Given the description of an element on the screen output the (x, y) to click on. 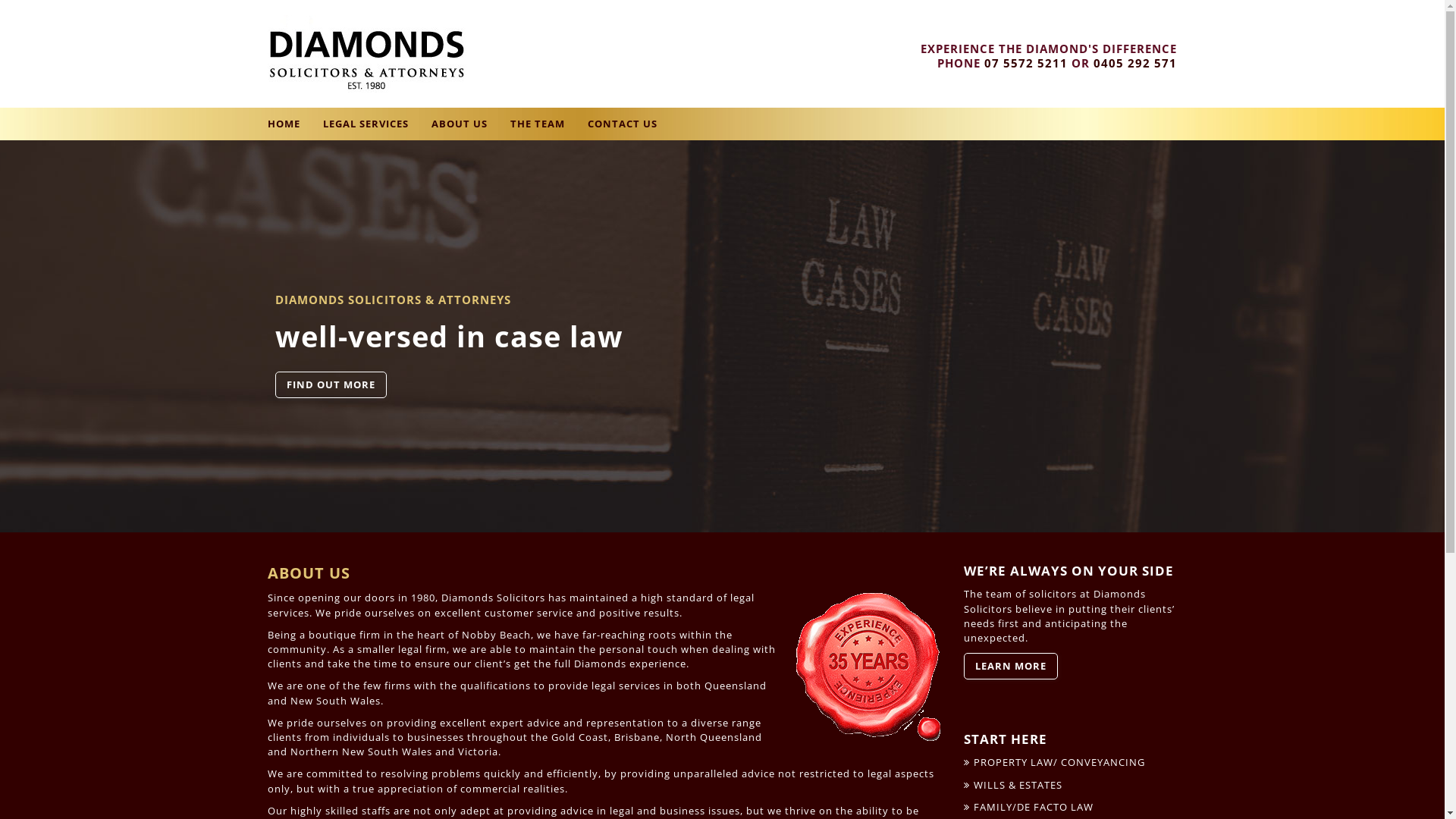
PROPERTY LAW/ CONVEYANCING Element type: text (1054, 761)
07 5572 5211 Element type: text (1025, 63)
THE TEAM Element type: text (536, 123)
LEARN MORE Element type: text (1010, 665)
WILLS & ESTATES Element type: text (1012, 784)
Diamonds Solicitors & Attorneys Element type: hover (412, 53)
HOME Element type: text (282, 123)
CONTACT US Element type: text (621, 123)
LEGAL SERVICES Element type: text (365, 123)
0405 292 571 Element type: text (1134, 63)
ABOUT US Element type: text (458, 123)
FAMILY/DE FACTO LAW Element type: text (1028, 806)
